Given the description of an element on the screen output the (x, y) to click on. 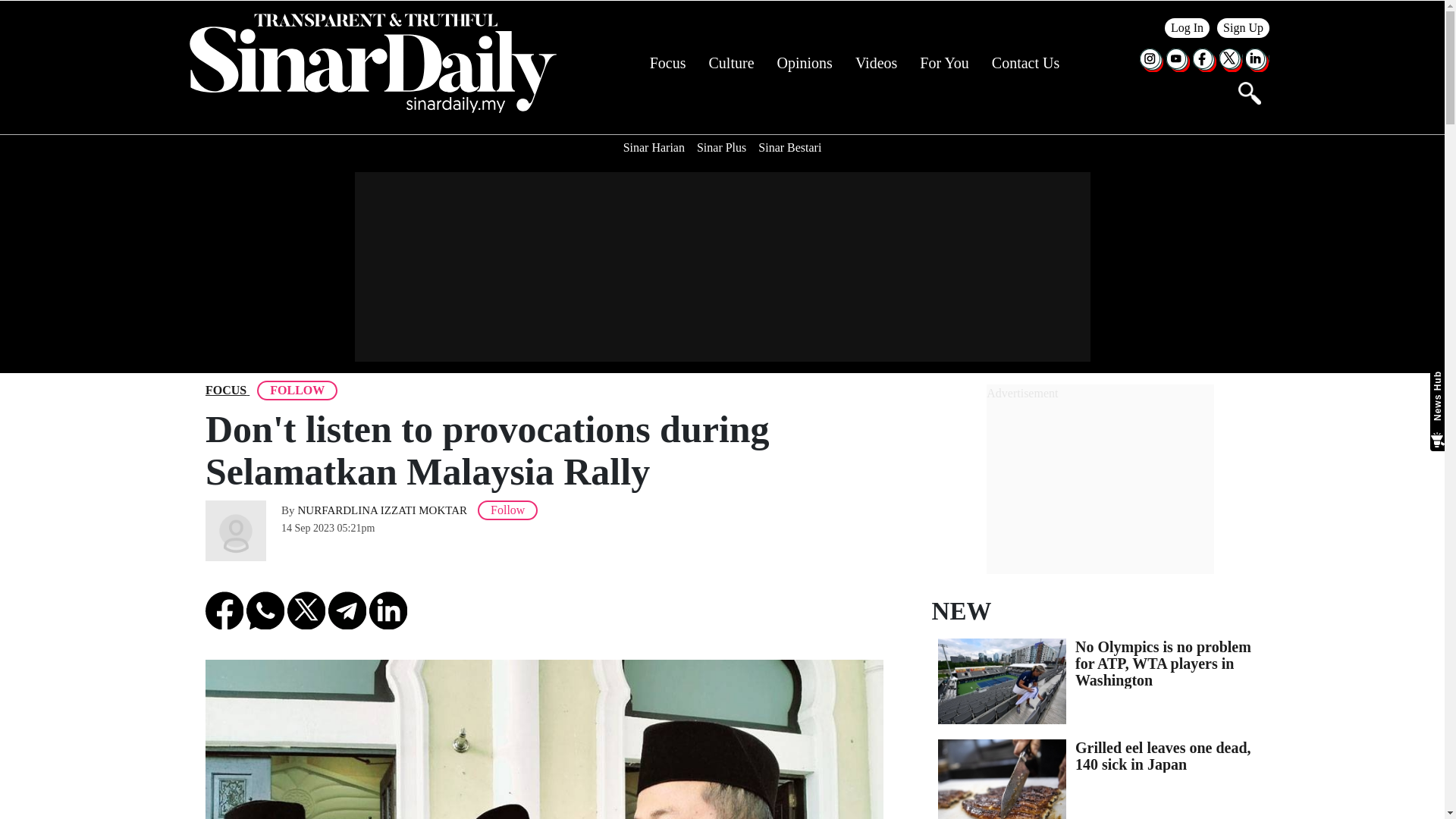
Videos (876, 63)
NURFARDLINA IZZATI MOKTAR (382, 510)
Share on LinkedIn (388, 610)
Sinar Bestari (789, 147)
Sinar Plus (721, 147)
Sinar Harian (653, 147)
Culture (731, 63)
Share on Twitter (305, 610)
Contact Us (1025, 63)
Opinions (804, 63)
Share Article on Facebook (224, 610)
Share on Telegram (347, 610)
Sign Up (1243, 27)
Sinar Daily (371, 63)
For You (944, 63)
